Given the description of an element on the screen output the (x, y) to click on. 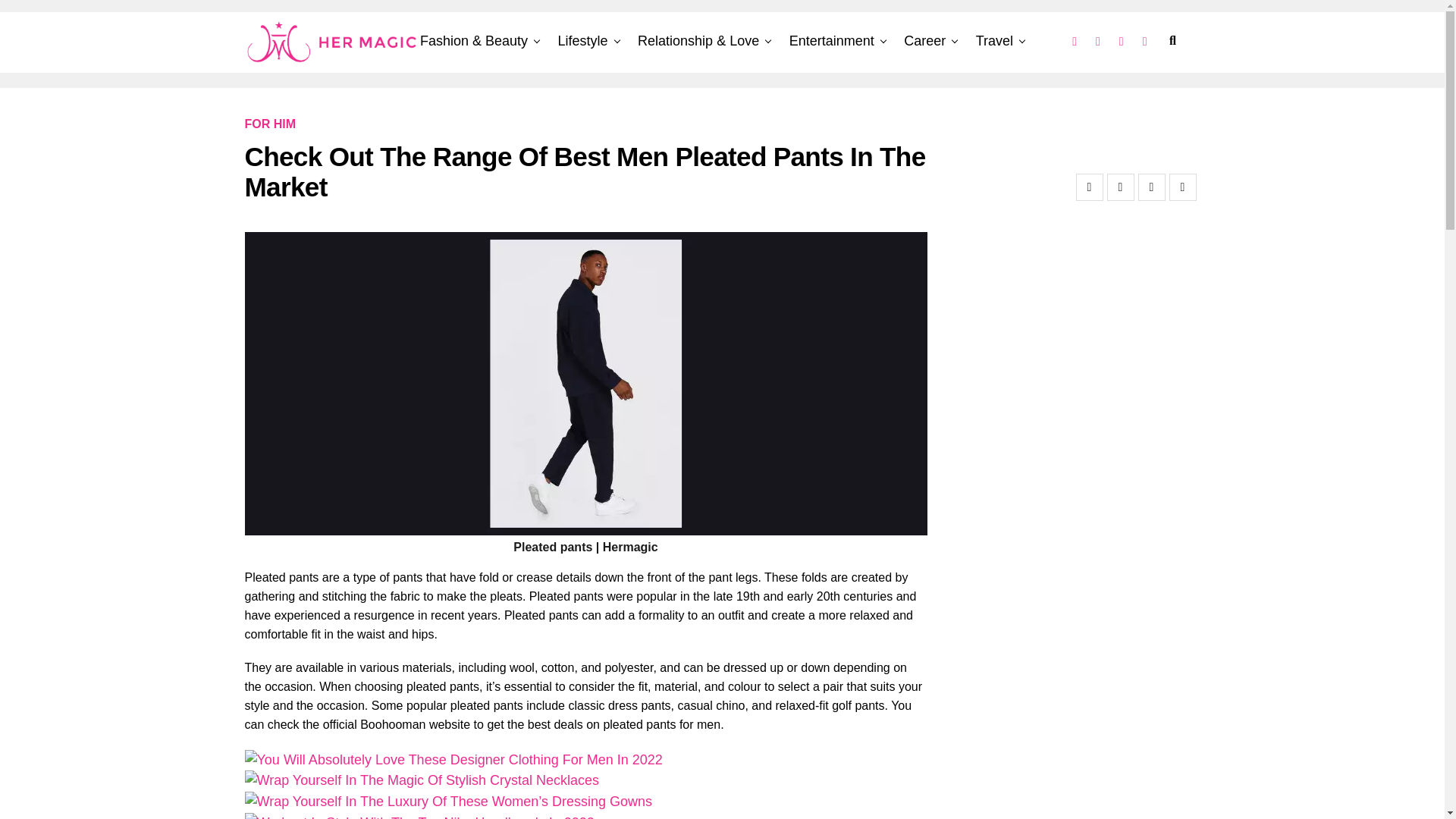
Share on Facebook (1088, 186)
Tweet This Post (1120, 186)
Lifestyle (582, 40)
Rakuten Marketing UK (61, 17)
